Given the description of an element on the screen output the (x, y) to click on. 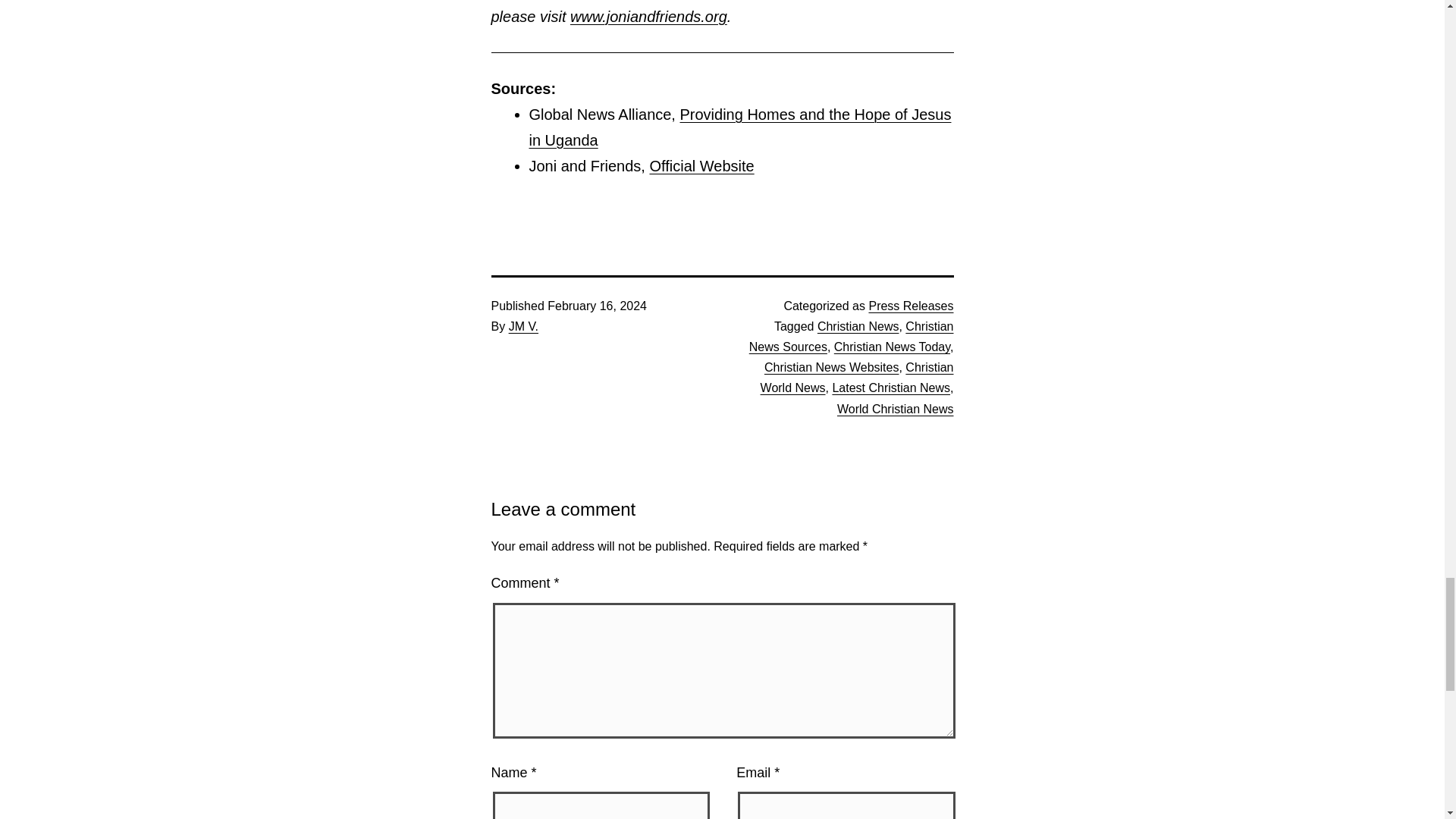
JM V. (523, 326)
Christian News Websites (831, 367)
Christian News Today (892, 346)
Christian World News (856, 377)
Official Website (701, 166)
Press Releases (910, 305)
Providing Homes and the Hope of Jesus in Uganda (740, 127)
Christian News (857, 326)
Latest Christian News (890, 387)
Christian News Sources (851, 336)
World Christian News (895, 408)
www.joniandfriends.org (648, 16)
Providing Homes and the Hope of Jesus in Uganda (740, 127)
Official Website (701, 166)
